Given the description of an element on the screen output the (x, y) to click on. 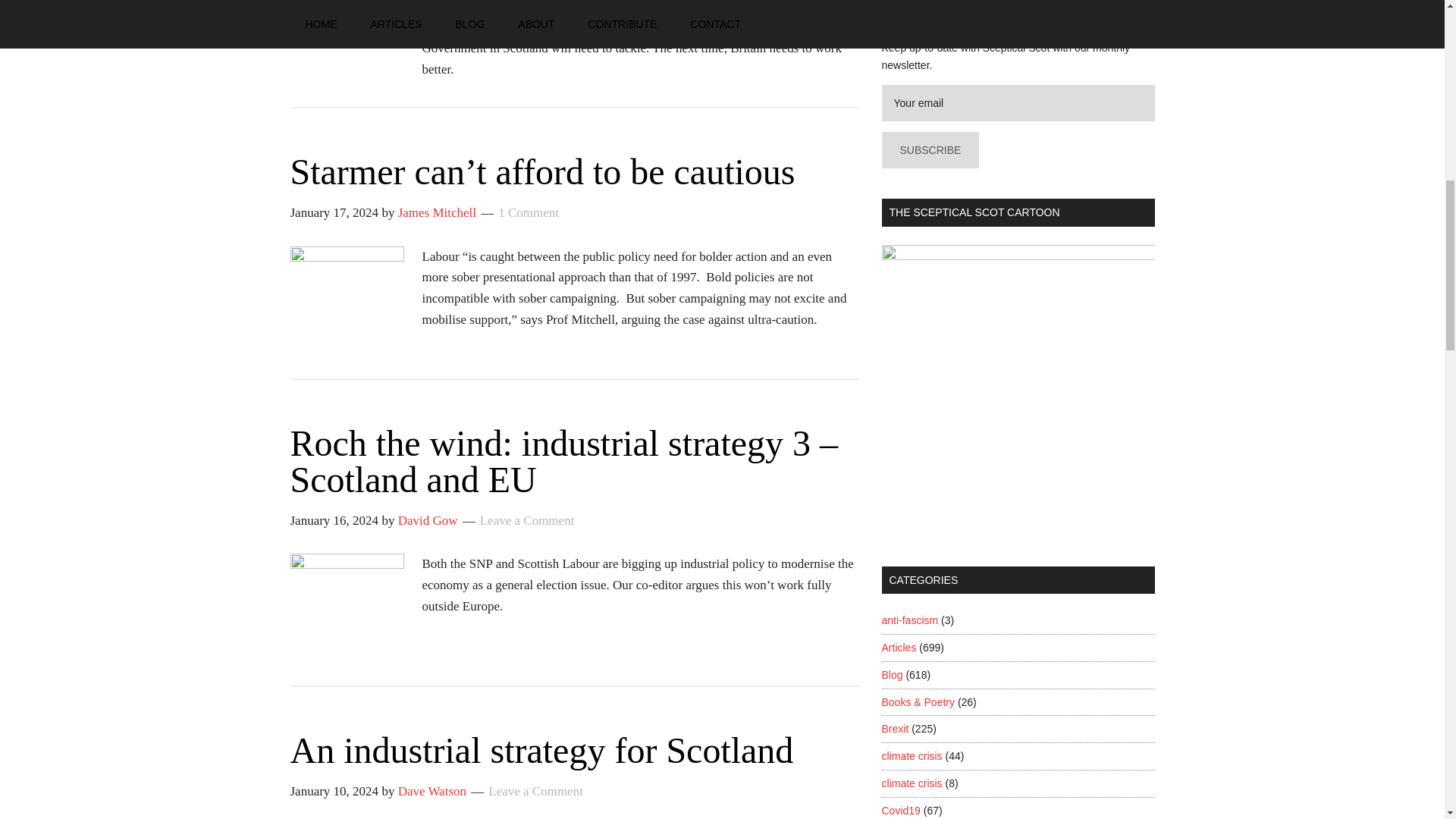
Leave a Comment (527, 520)
Subscribe (929, 149)
Dave Watson (431, 790)
An industrial strategy for Scotland (541, 750)
Leave a Comment (535, 790)
James Mitchell (436, 212)
David Gow (427, 520)
1 Comment (528, 212)
